Given the description of an element on the screen output the (x, y) to click on. 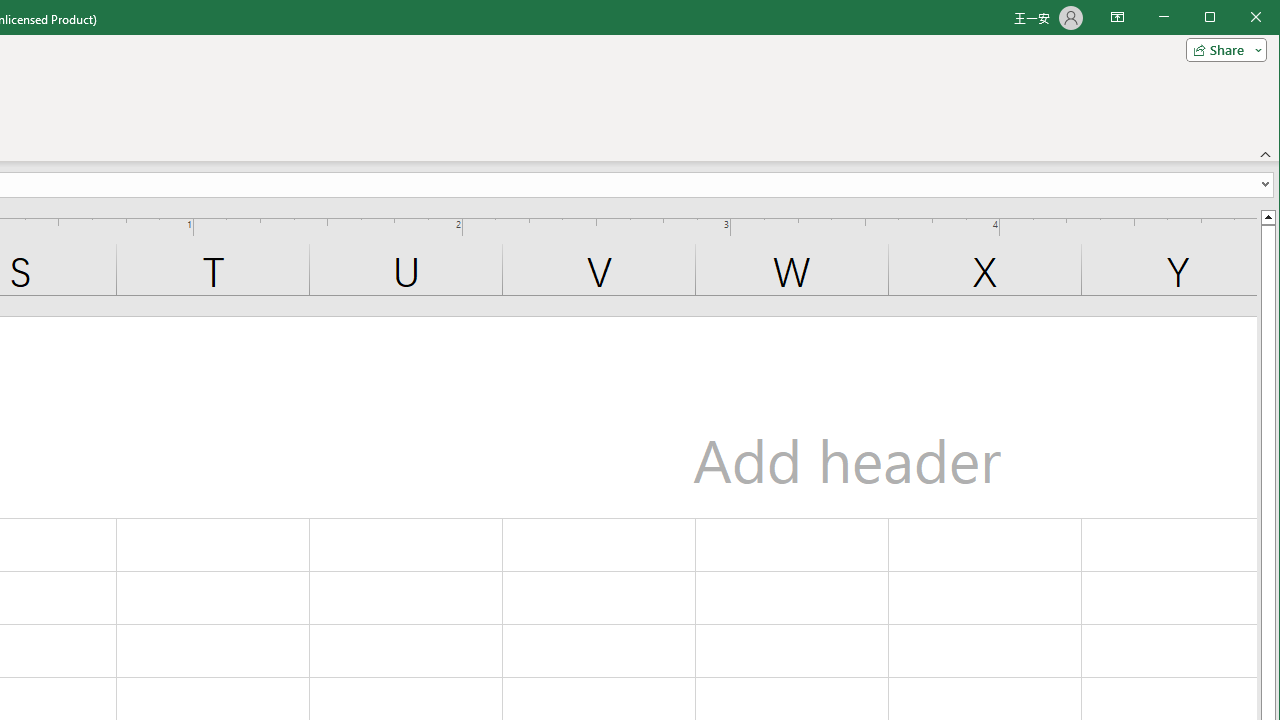
Maximize (1238, 18)
